Given the description of an element on the screen output the (x, y) to click on. 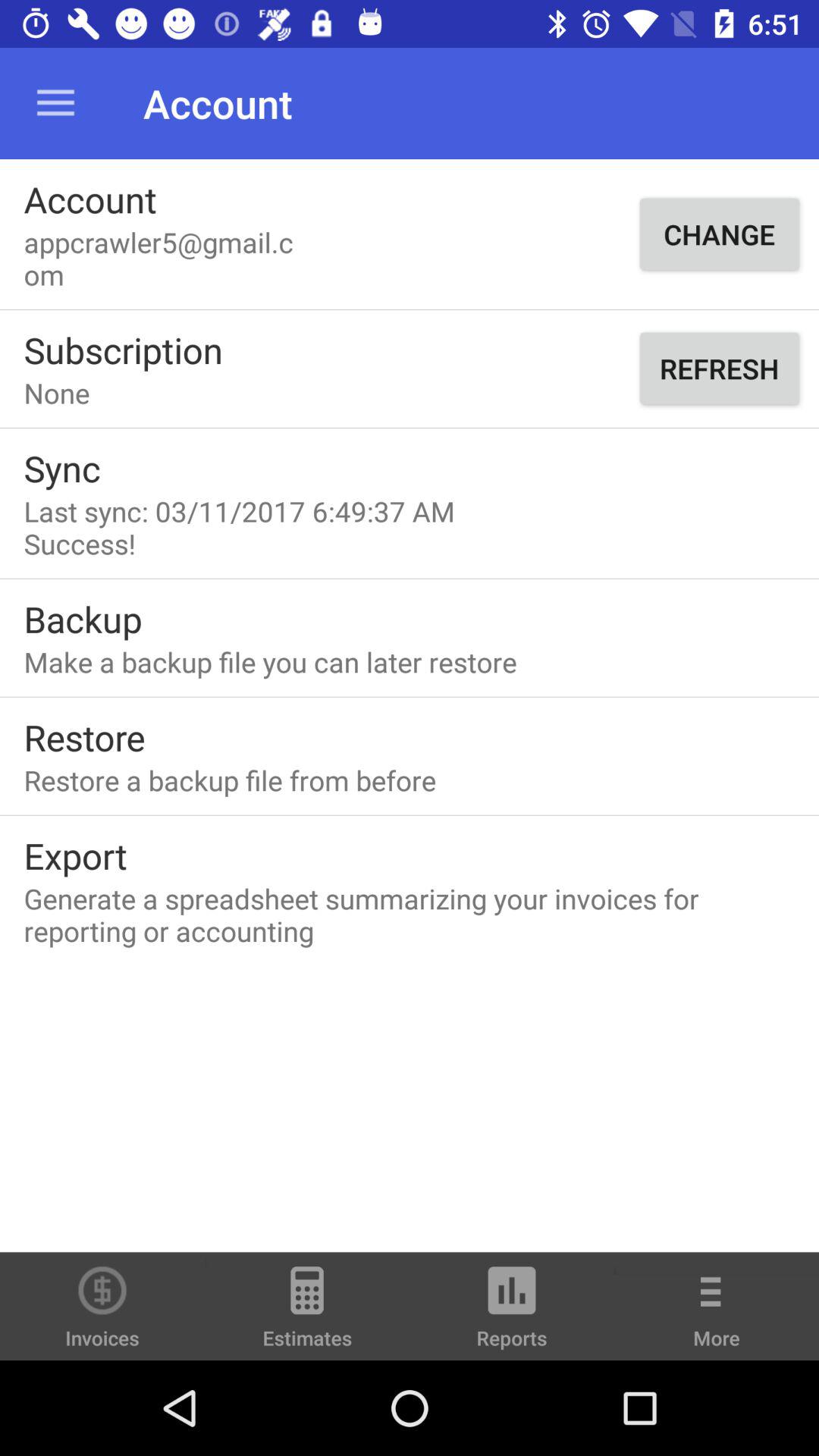
click item next to appcrawler5@gmail.com item (719, 234)
